Given the description of an element on the screen output the (x, y) to click on. 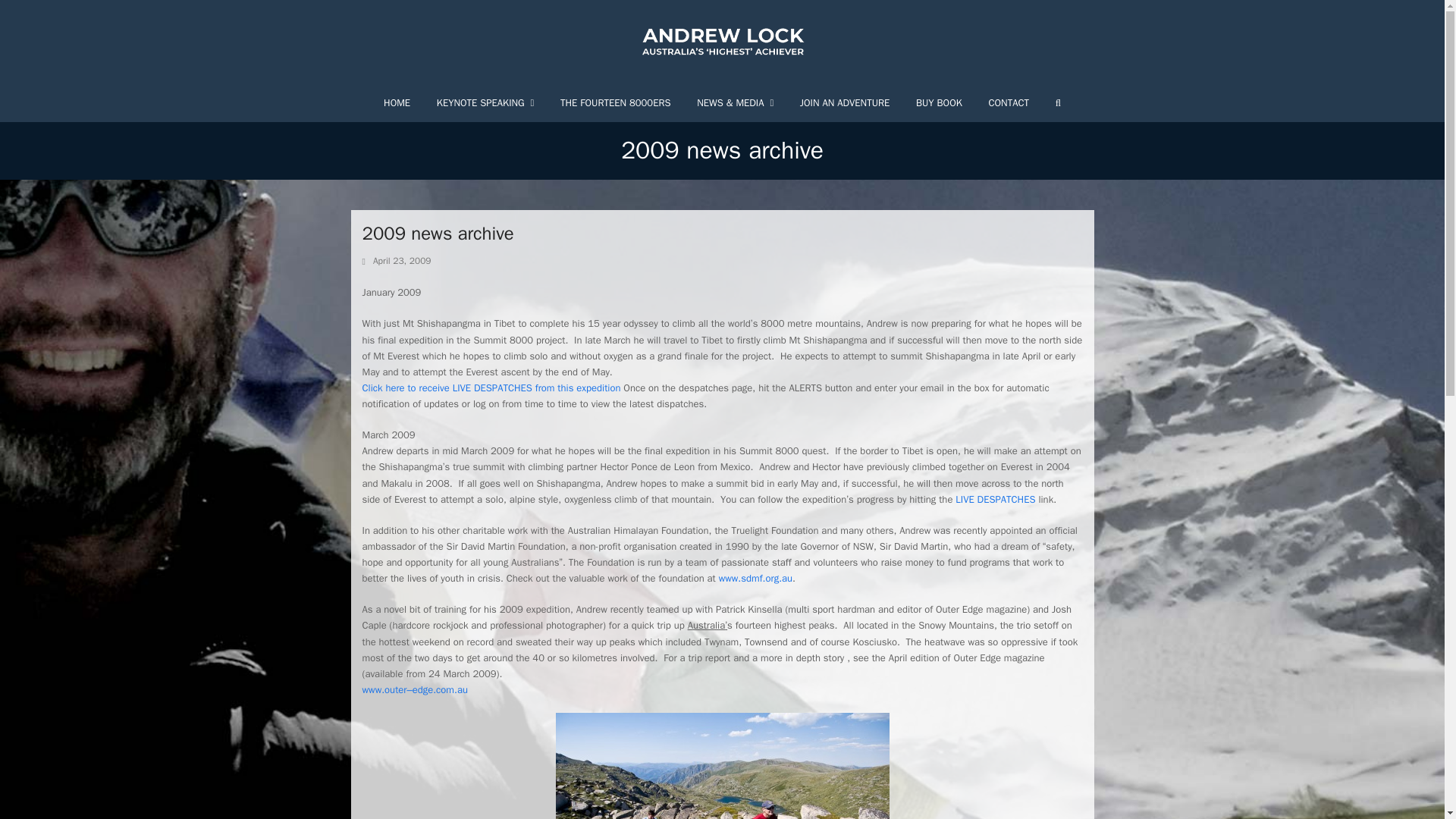
KEYNOTE SPEAKING (484, 103)
www.sdmf.org.au (755, 577)
THE FOURTEEN 8000ERS (615, 103)
LIVE DESPATCHES (995, 499)
HOME (397, 103)
CONTACT (1008, 103)
JOIN AN ADVENTURE (844, 103)
BUY BOOK (939, 103)
Click here to receive LIVE DESPATCHES from this expedition (491, 387)
